Given the description of an element on the screen output the (x, y) to click on. 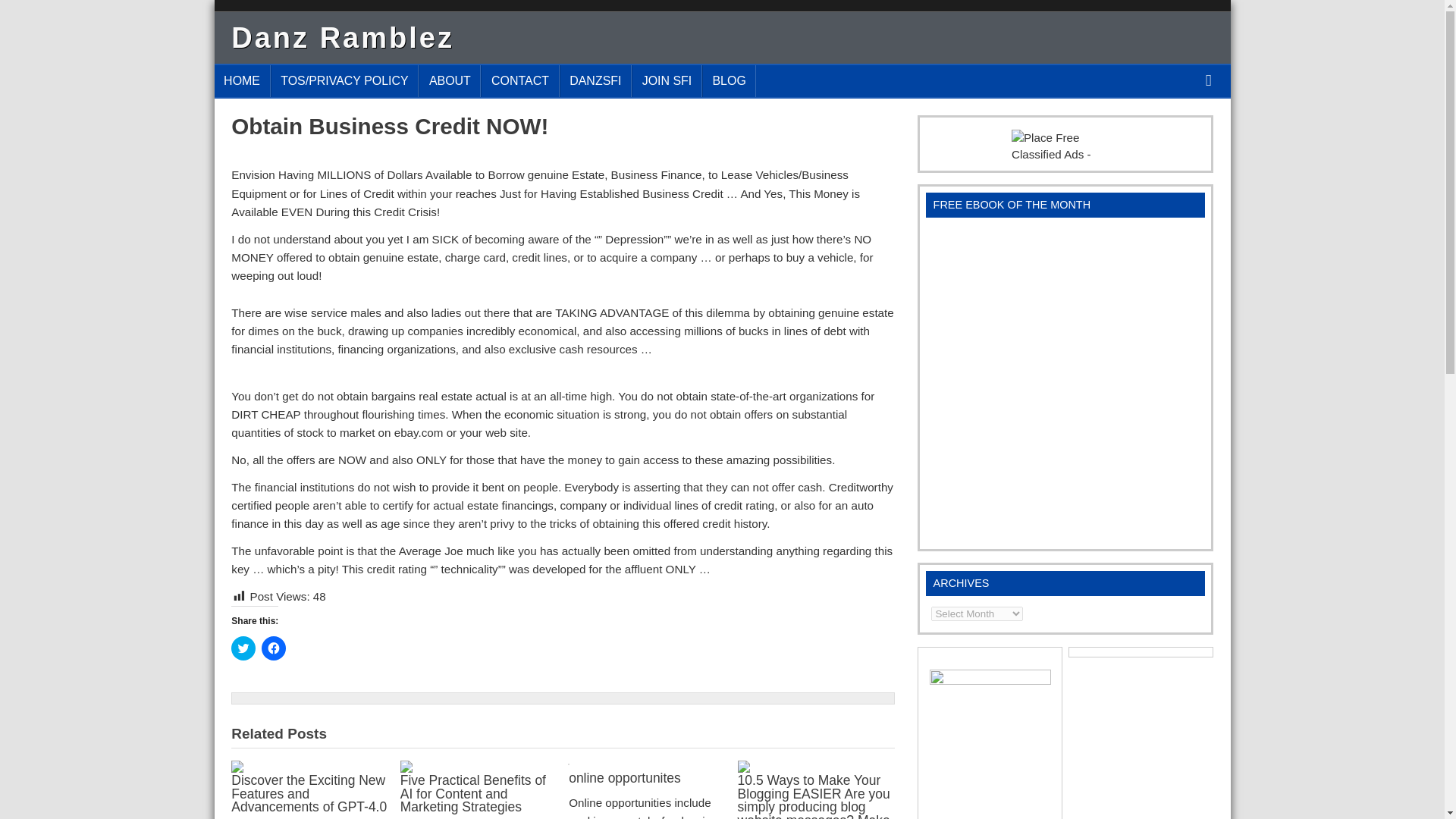
DANZSFI (595, 80)
CONTACT (519, 80)
ABOUT (449, 80)
HOME (241, 80)
Click to share on Facebook (273, 648)
JOIN SFI (666, 80)
BLOG (729, 80)
